Given the description of an element on the screen output the (x, y) to click on. 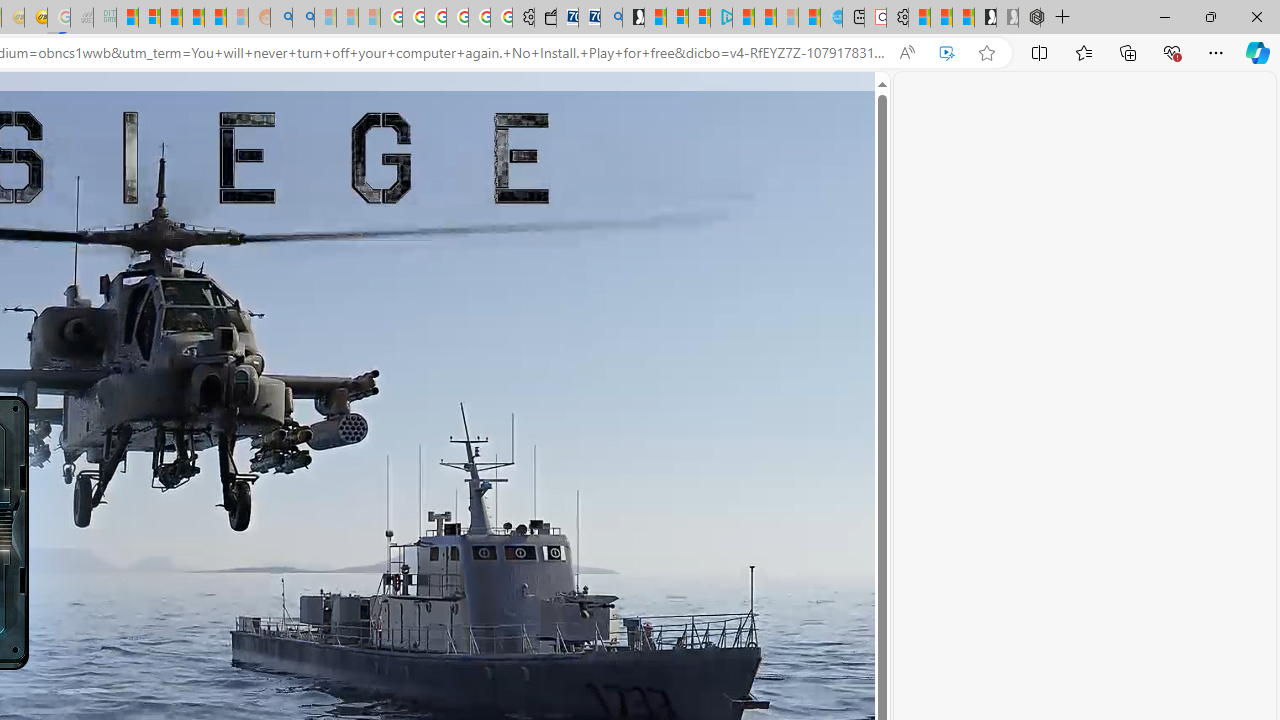
Student Loan Update: Forgiveness Program Ends This Month (215, 17)
